Given the description of an element on the screen output the (x, y) to click on. 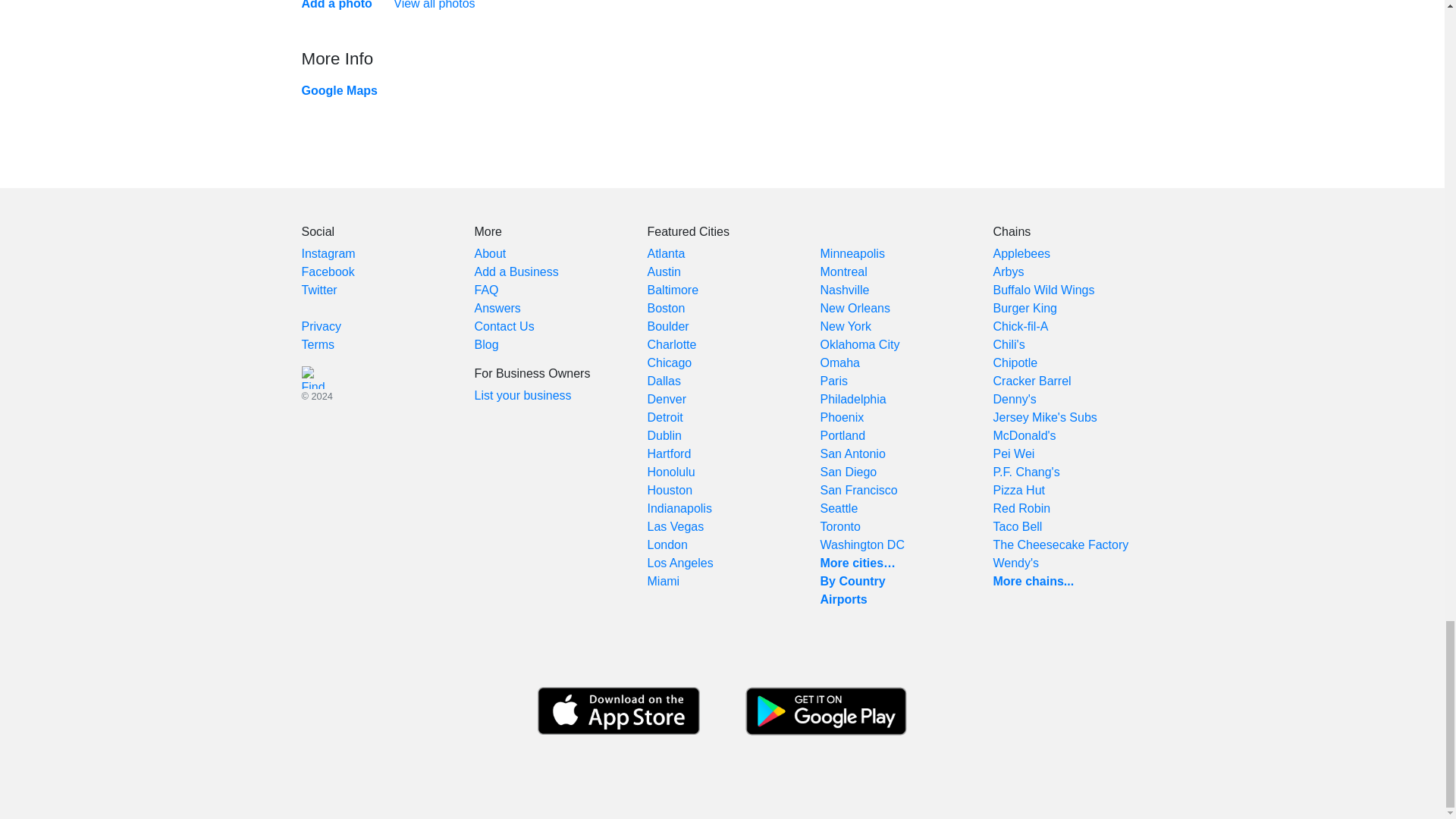
Instagram (328, 253)
Privacy (320, 326)
Google Maps (339, 90)
Facebook (328, 271)
Add a photo (336, 4)
Terms (317, 344)
Twitter (319, 289)
View all photos (433, 4)
